Given the description of an element on the screen output the (x, y) to click on. 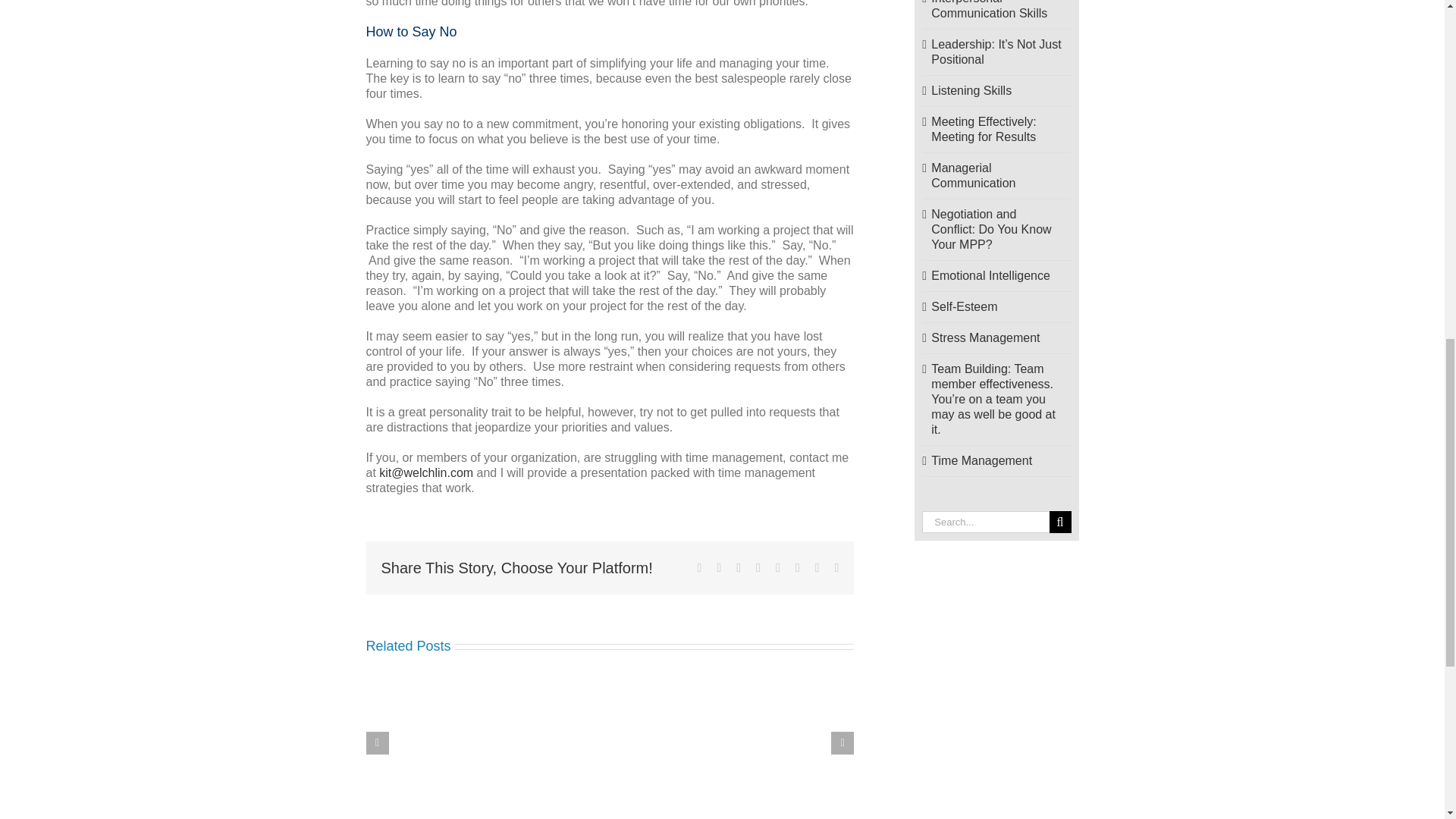
Reddit (738, 567)
Email (836, 567)
LinkedIn (757, 567)
Vk (817, 567)
Pinterest (796, 567)
Tumblr (778, 567)
X (718, 567)
Vk (817, 567)
LinkedIn (757, 567)
Email (836, 567)
Facebook (699, 567)
Tumblr (778, 567)
X (718, 567)
Pinterest (796, 567)
Facebook (699, 567)
